Given the description of an element on the screen output the (x, y) to click on. 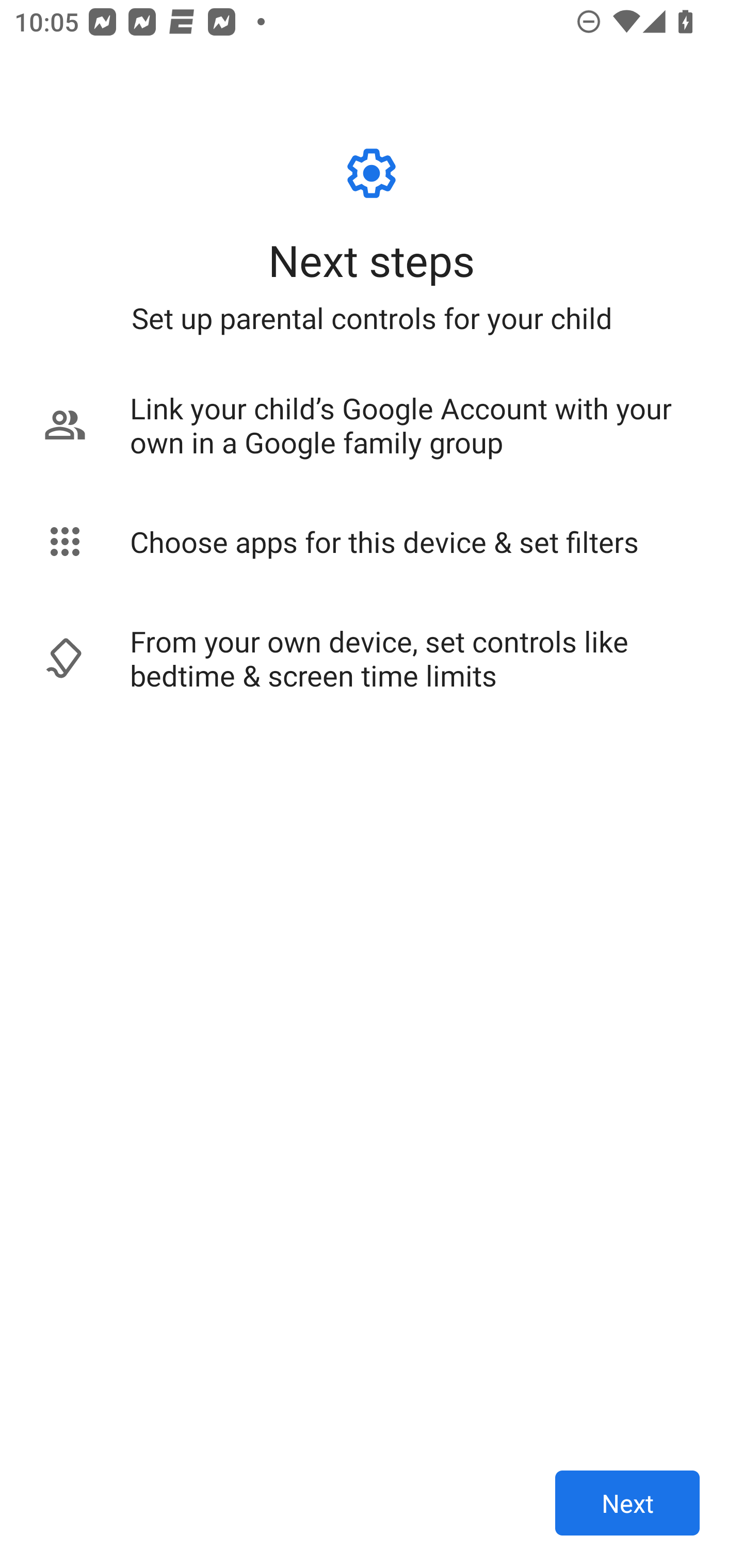
Next (627, 1502)
